Given the description of an element on the screen output the (x, y) to click on. 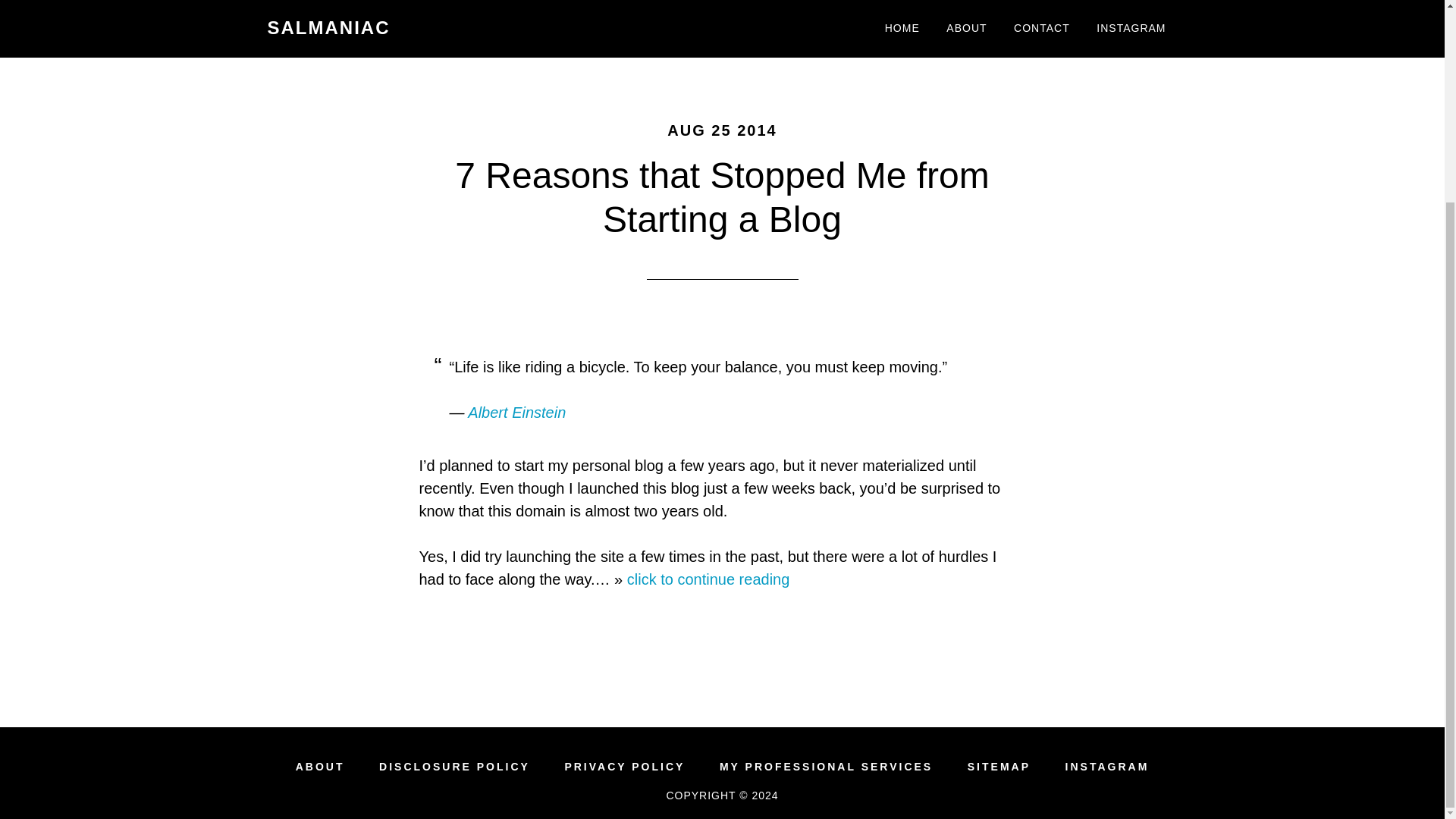
Albert Einstein Quote Citation (516, 412)
INSTAGRAM (1107, 766)
Albert Einstein (516, 412)
SITEMAP (999, 766)
PRIVACY POLICY (624, 766)
ABOUT (320, 766)
DISCLOSURE POLICY (453, 766)
MY PROFESSIONAL SERVICES (826, 766)
7 Reasons that Stopped Me from Starting a Blog (721, 197)
